Given the description of an element on the screen output the (x, y) to click on. 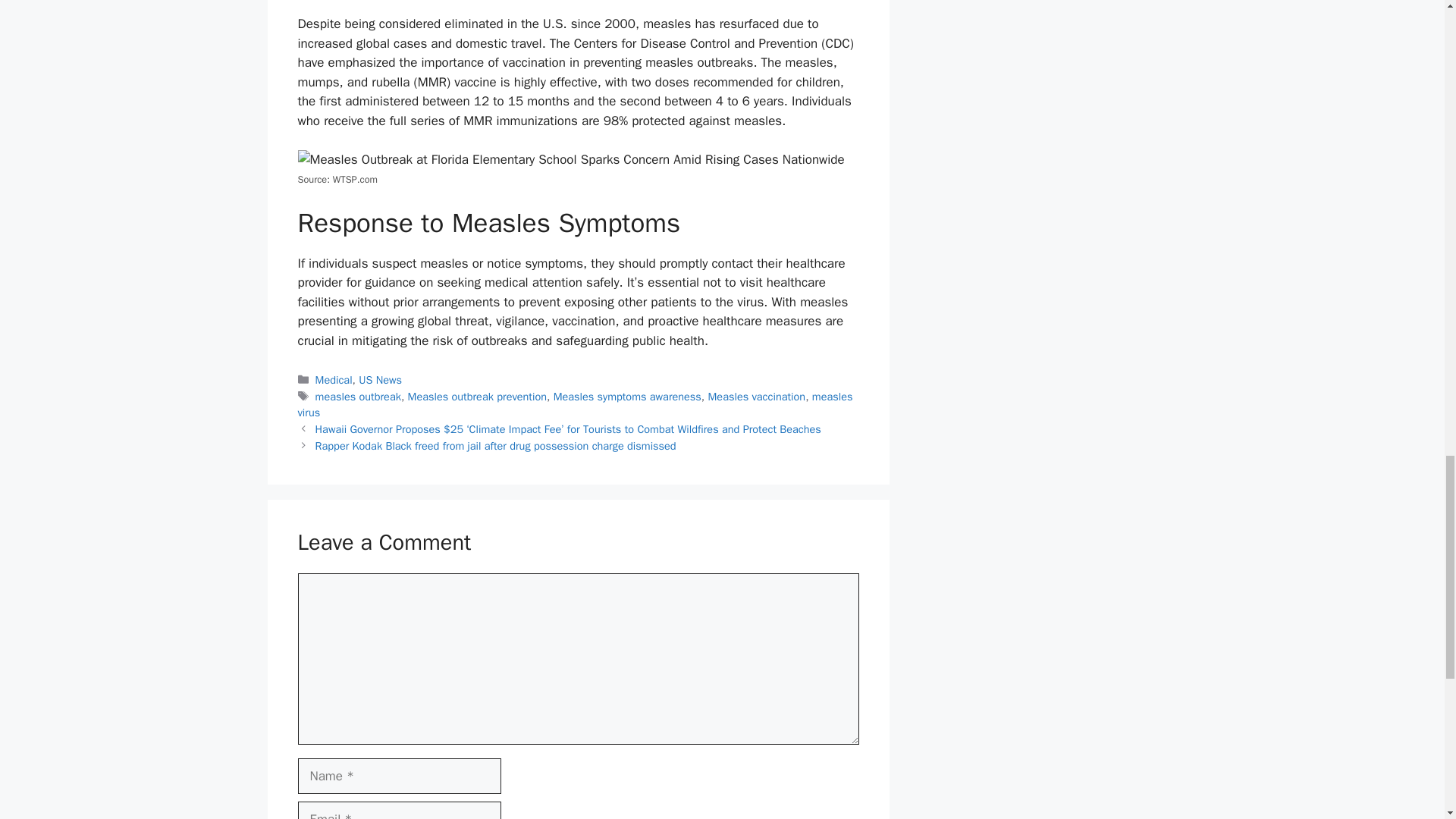
measles virus (574, 404)
Measles outbreak prevention (477, 396)
Medical (333, 379)
Measles vaccination (756, 396)
US News (379, 379)
Measles symptoms awareness (627, 396)
measles outbreak (358, 396)
